Given the description of an element on the screen output the (x, y) to click on. 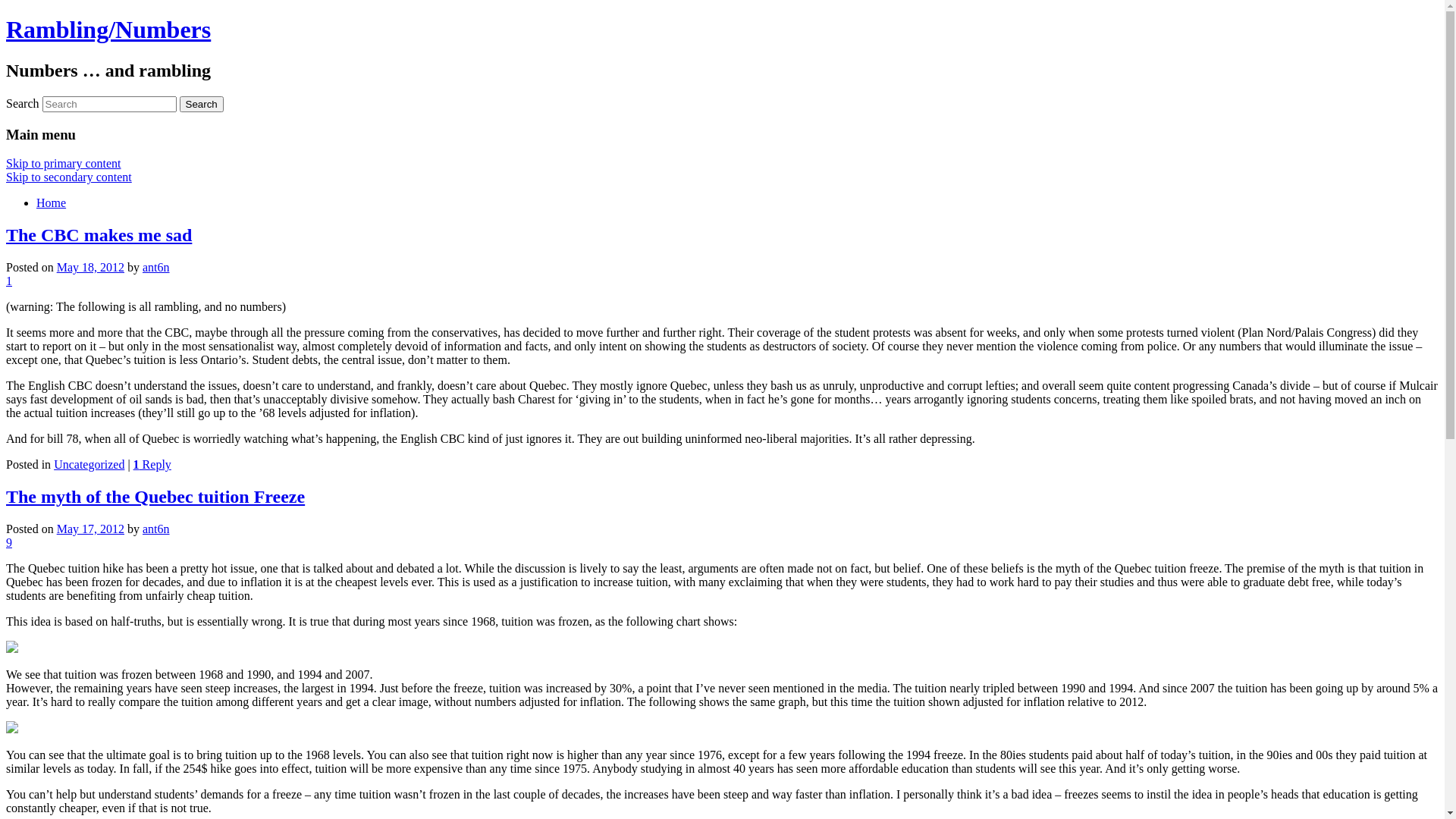
Uncategorized Element type: text (88, 464)
The CBC makes me sad Element type: text (98, 234)
Skip to primary content Element type: text (63, 162)
Home Element type: text (50, 202)
May 18, 2012 Element type: text (90, 266)
9 Element type: text (9, 542)
1 Element type: text (9, 280)
ant6n Element type: text (155, 528)
Rambling/Numbers Element type: text (108, 29)
ant6n Element type: text (155, 266)
Search Element type: text (201, 104)
Skip to secondary content Element type: text (68, 176)
The myth of the Quebec tuition Freeze Element type: text (155, 496)
1 Reply Element type: text (152, 464)
May 17, 2012 Element type: text (90, 528)
